Given the description of an element on the screen output the (x, y) to click on. 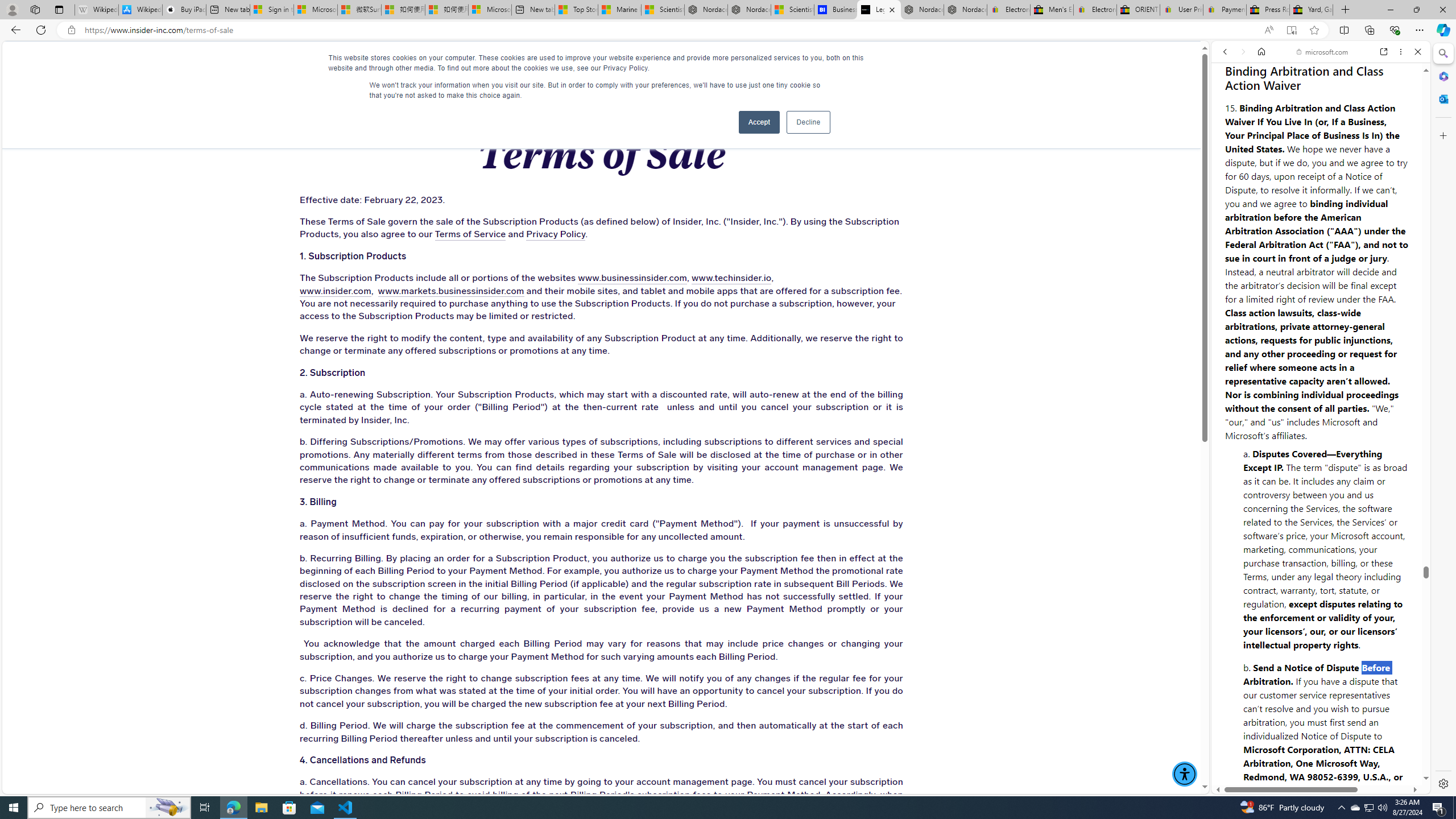
www.techinsider.io (731, 278)
Decline (807, 121)
Marine life - MSN (619, 9)
User Privacy Notice | eBay (1181, 9)
